Given the description of an element on the screen output the (x, y) to click on. 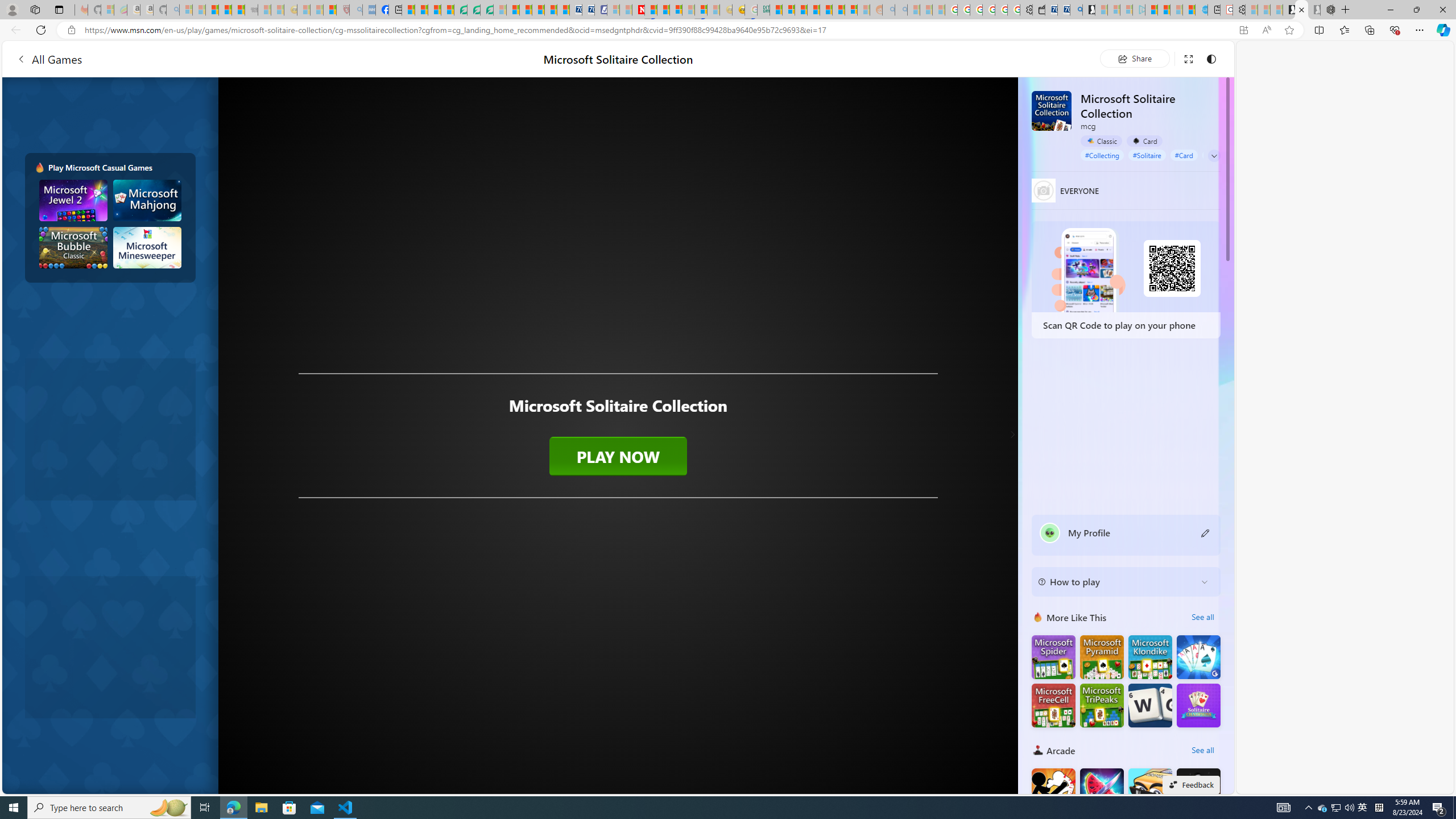
Class: control (1214, 155)
Change to dark mode (1211, 58)
Microsoft Jewel 2 (73, 200)
Solitaire Champions (1198, 705)
Local - MSN (329, 9)
Solitaire Gold (1198, 657)
